Given the description of an element on the screen output the (x, y) to click on. 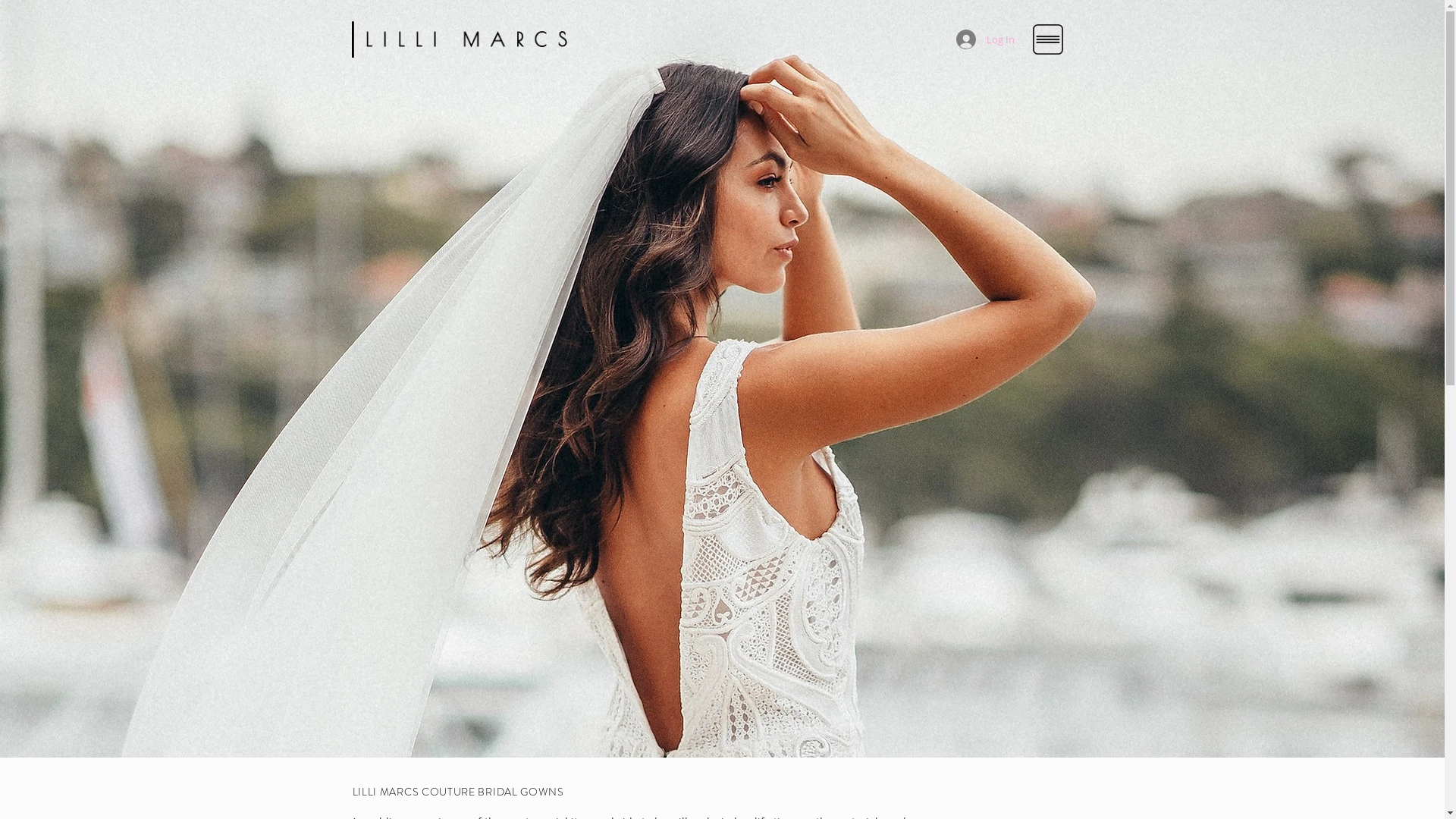
Log In Element type: text (984, 39)
